Given the description of an element on the screen output the (x, y) to click on. 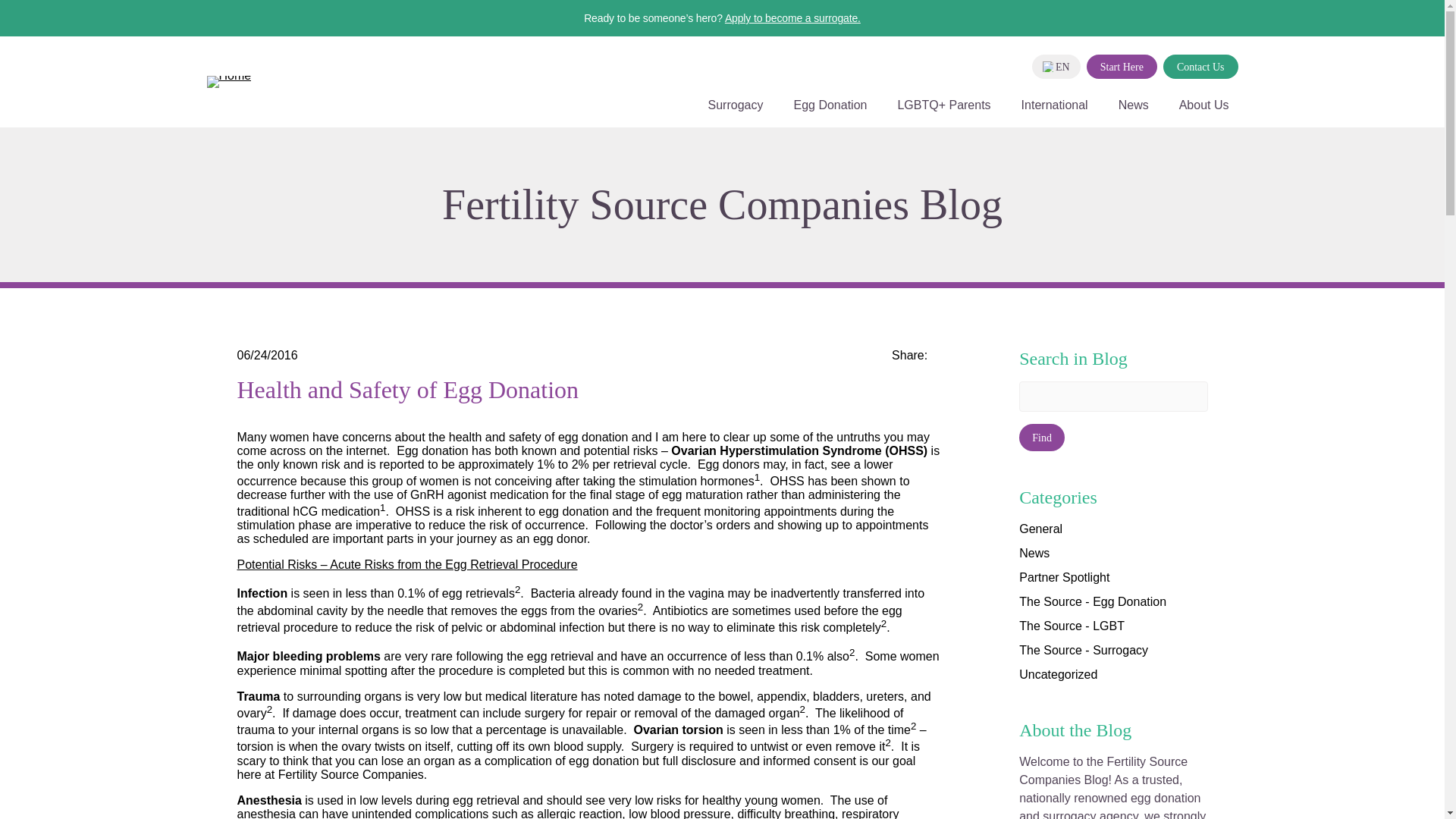
EN (1056, 66)
Surrogacy (735, 111)
Start Here (1121, 66)
Egg Donation (830, 111)
Contact Us (1201, 66)
Apply to become a surrogate. (792, 18)
